Given the description of an element on the screen output the (x, y) to click on. 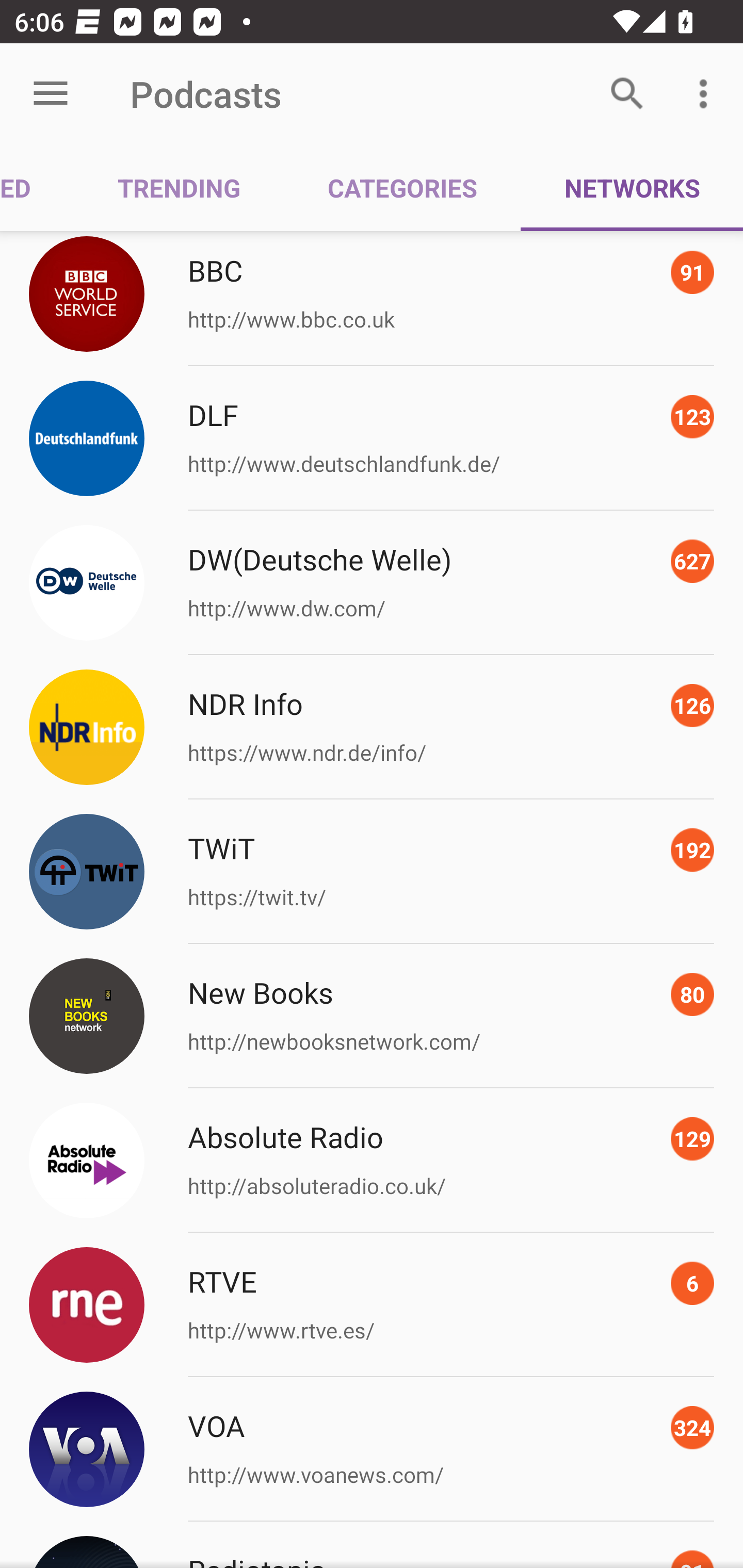
Open menu (50, 93)
Search (626, 93)
More options (706, 93)
TRENDING (178, 187)
CATEGORIES (401, 187)
NETWORKS (631, 187)
Picture BBC 91 http://www.bbc.co.uk (371, 298)
Picture DLF 123 http://www.deutschlandfunk.de/ (371, 438)
Picture DW(Deutsche Welle) 627 http://www.dw.com/ (371, 583)
Picture NDR Info 126 https://www.ndr.de/info/ (371, 727)
Picture TWiT 192 https://twit.tv/ (371, 871)
Picture New Books 80 http://newbooksnetwork.com/ (371, 1015)
Picture RTVE 6 http://www.rtve.es/ (371, 1304)
Picture VOA 324 http://www.voanews.com/ (371, 1448)
